Given the description of an element on the screen output the (x, y) to click on. 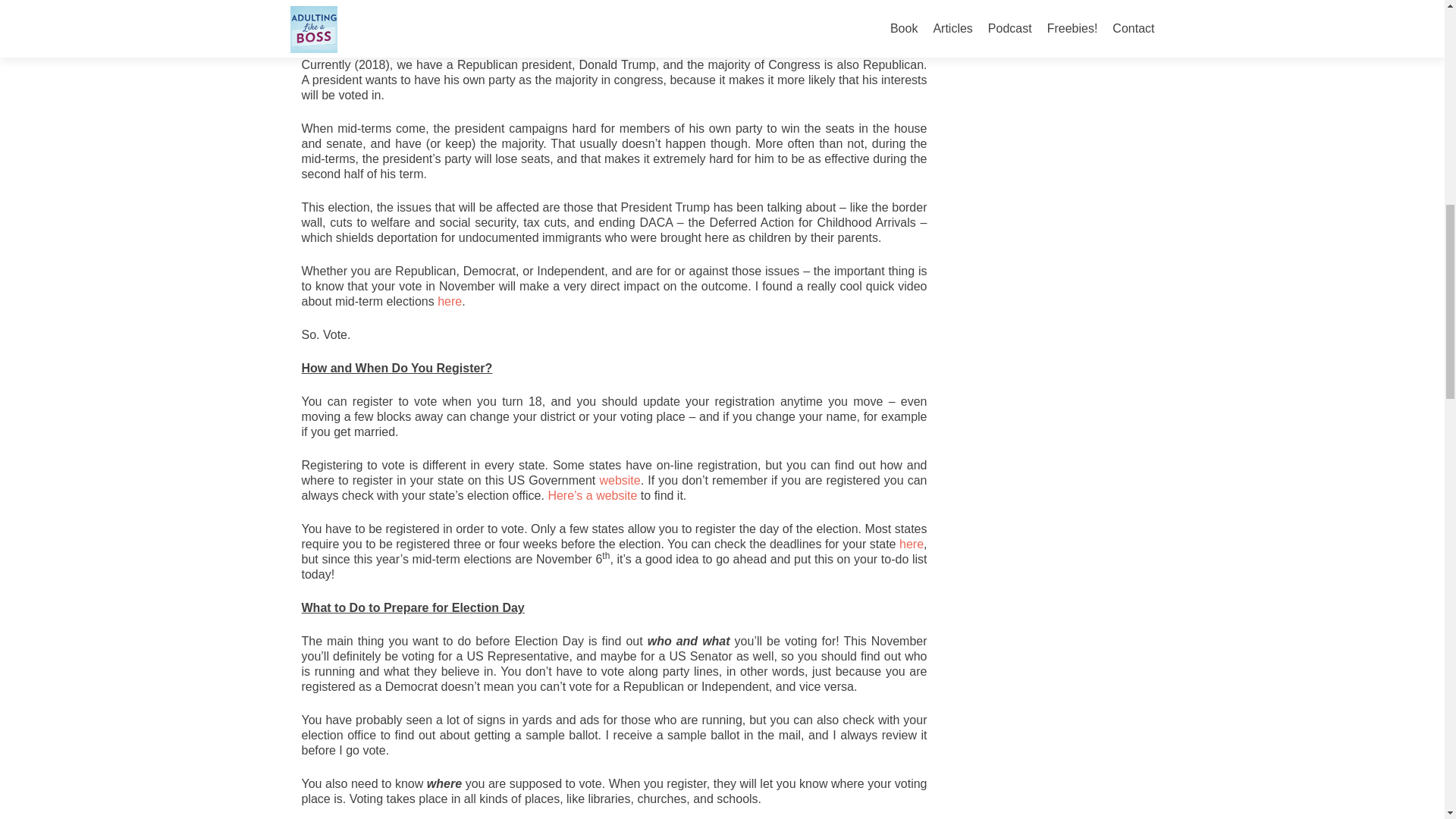
here (911, 543)
website (619, 480)
here (449, 300)
